Given the description of an element on the screen output the (x, y) to click on. 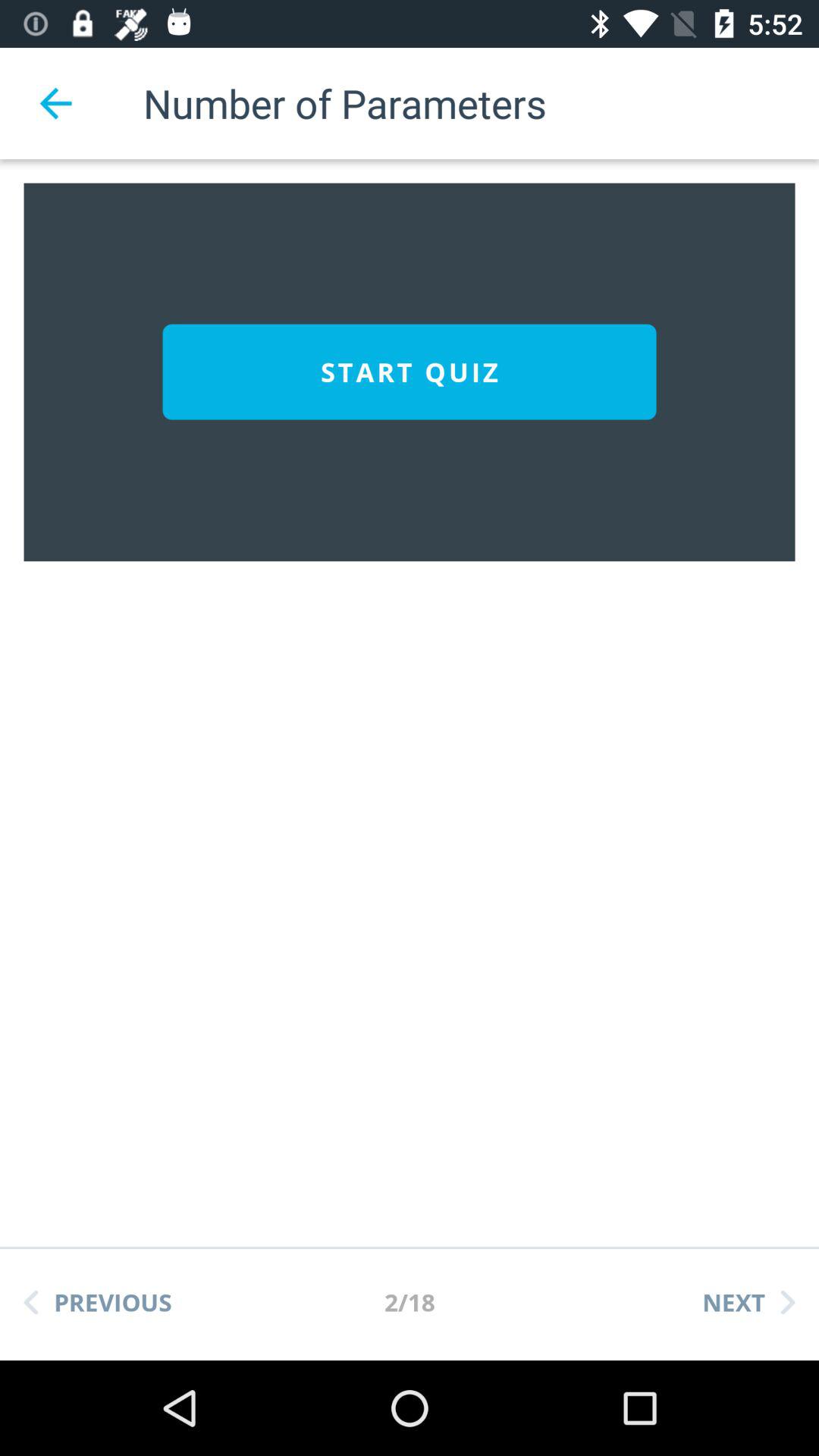
tap the next at the bottom right corner (748, 1302)
